Given the description of an element on the screen output the (x, y) to click on. 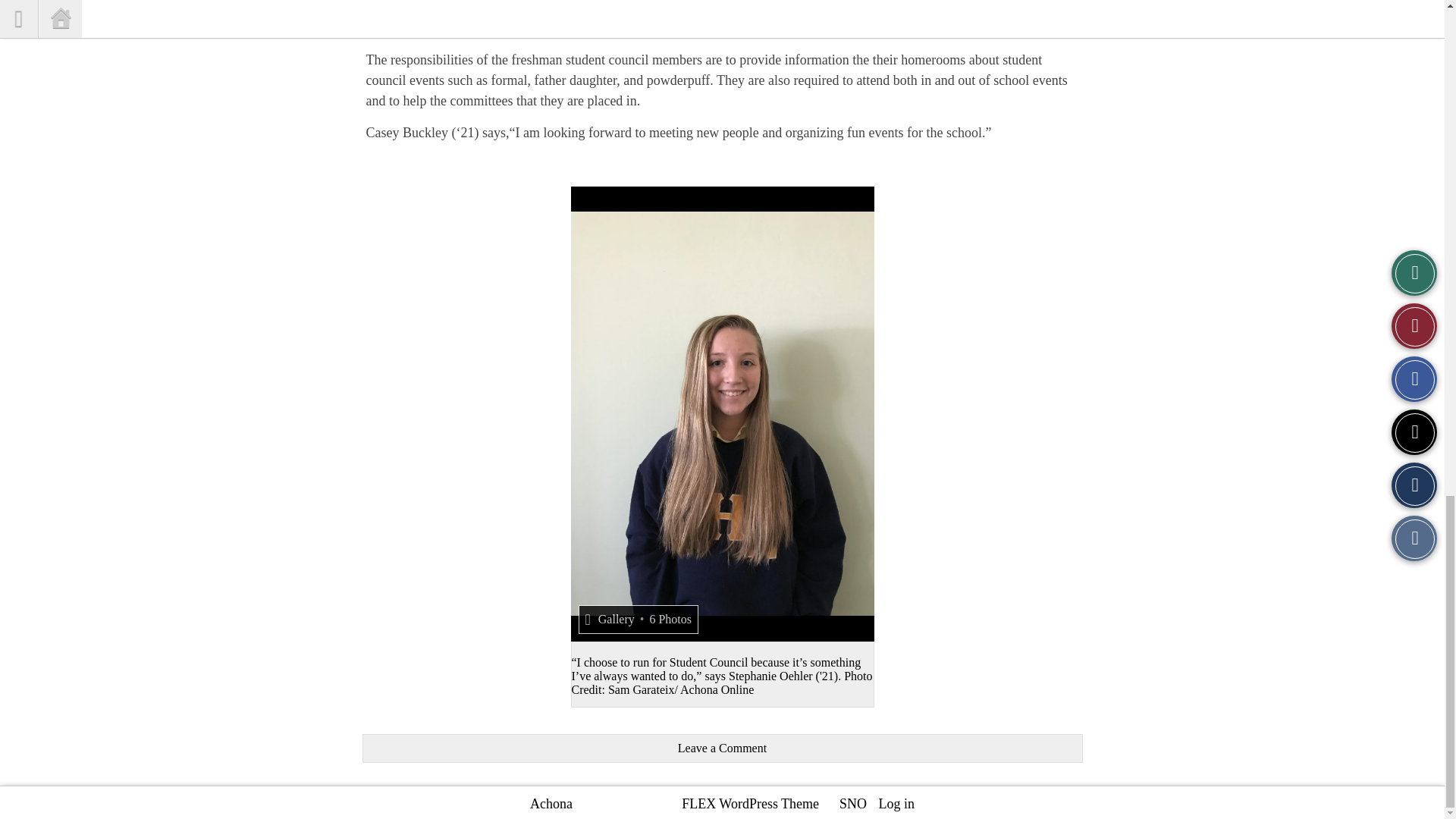
Achona (550, 803)
SNO (853, 803)
Log in (895, 803)
FLEX WordPress Theme (749, 803)
